Given the description of an element on the screen output the (x, y) to click on. 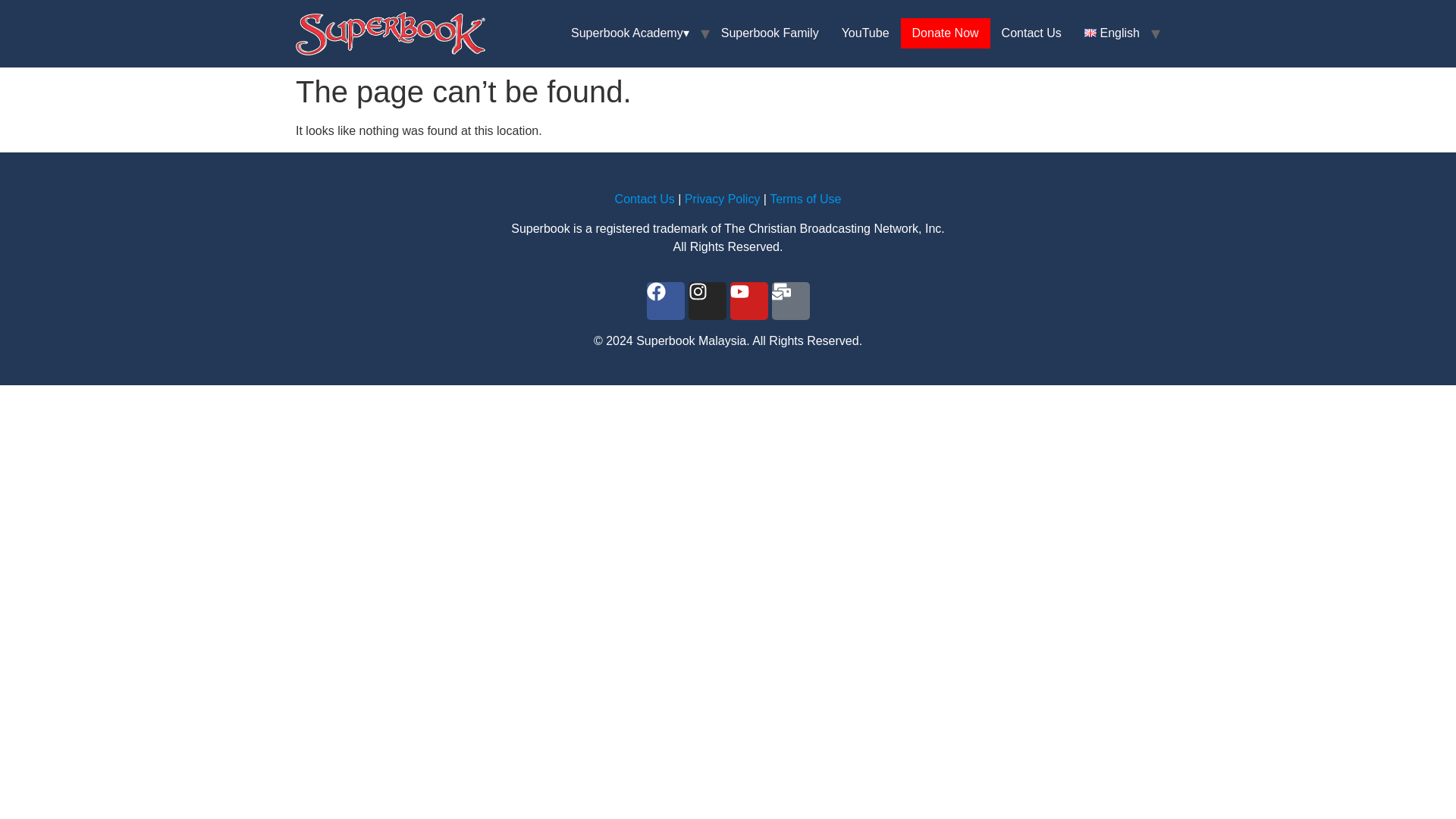
Privacy Policy (722, 198)
Superbook Family (769, 33)
Donate Now (945, 33)
Superbook Academy Site (727, 91)
YouTube (865, 33)
Terms of Use (805, 198)
Contact Us (1031, 33)
Contact Us (644, 198)
English (1112, 33)
